Given the description of an element on the screen output the (x, y) to click on. 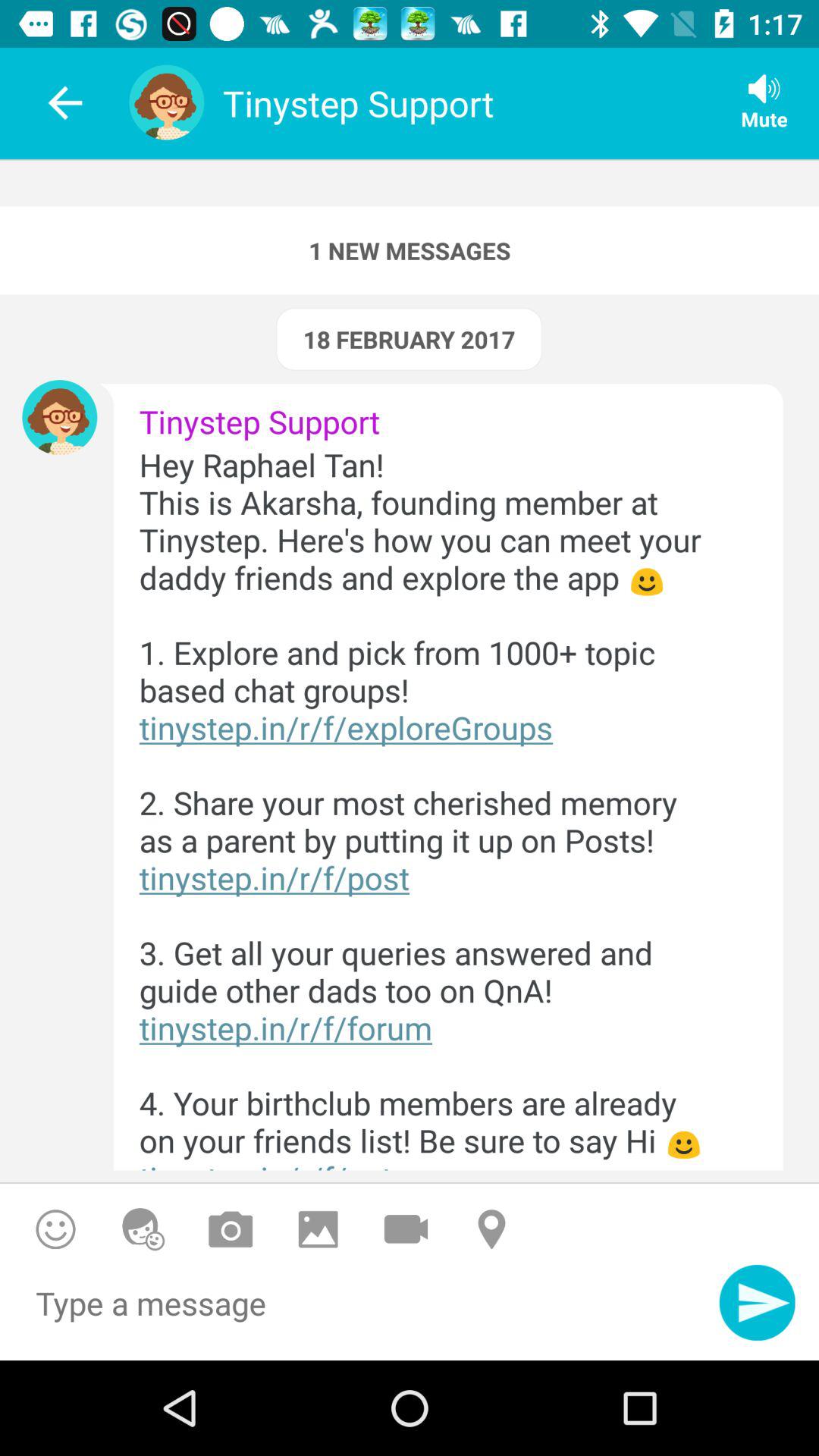
enter message (359, 1311)
